Given the description of an element on the screen output the (x, y) to click on. 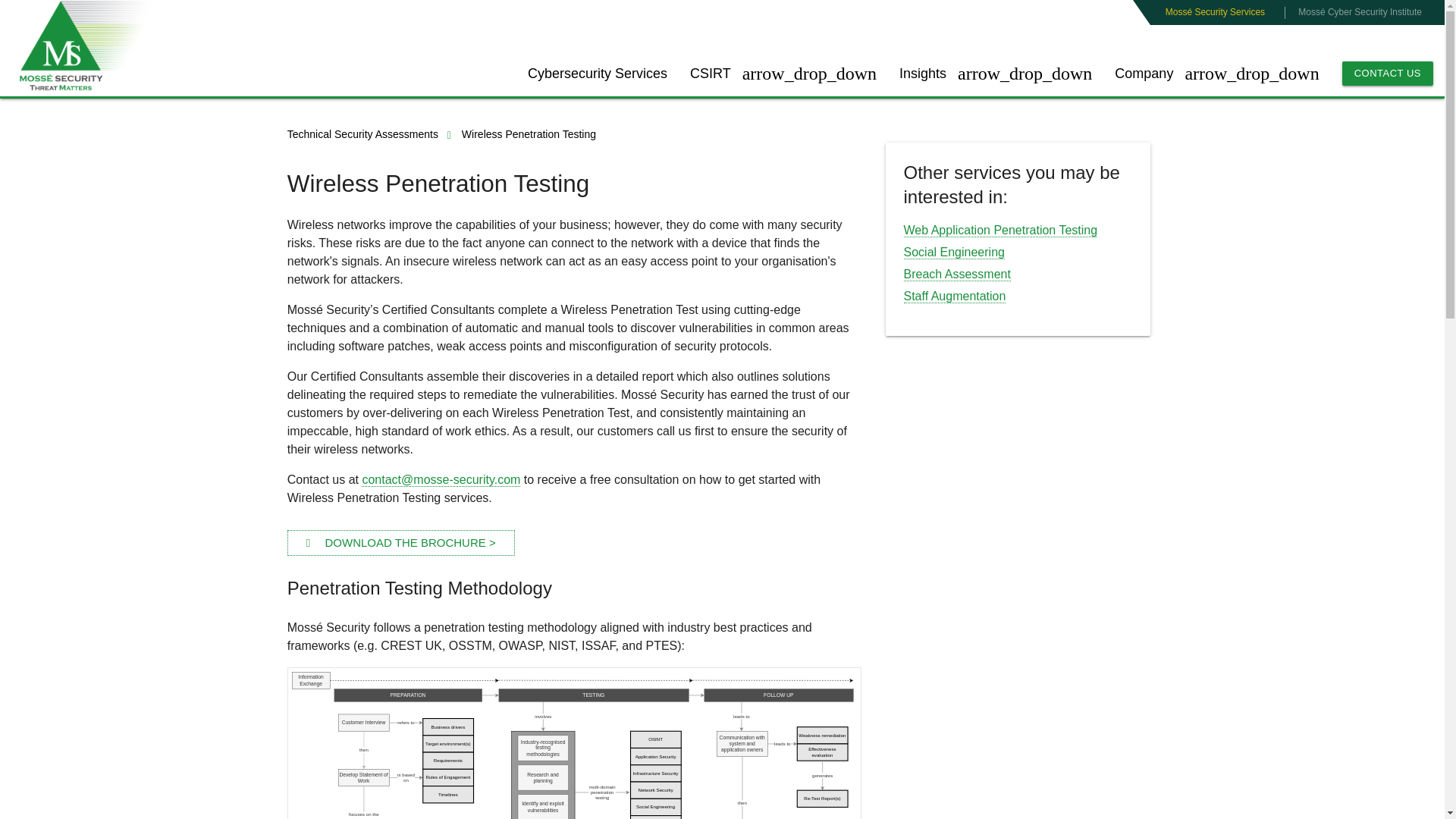
Cybersecurity Services (597, 73)
